Given the description of an element on the screen output the (x, y) to click on. 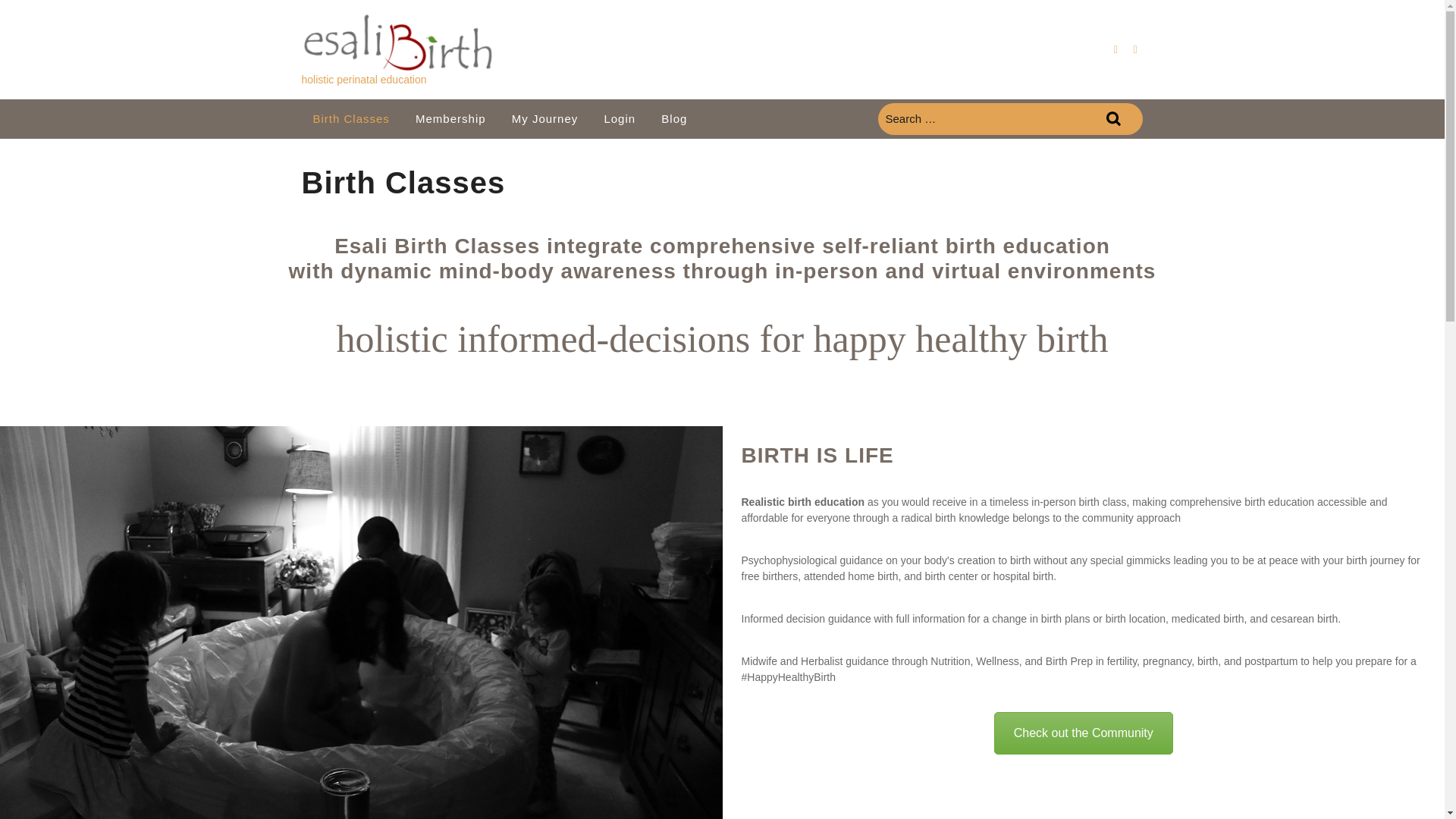
Birth Classes (350, 118)
Check out the Community (1083, 732)
Blog (674, 118)
Membership (450, 118)
My Journey (545, 118)
Login (619, 118)
